Given the description of an element on the screen output the (x, y) to click on. 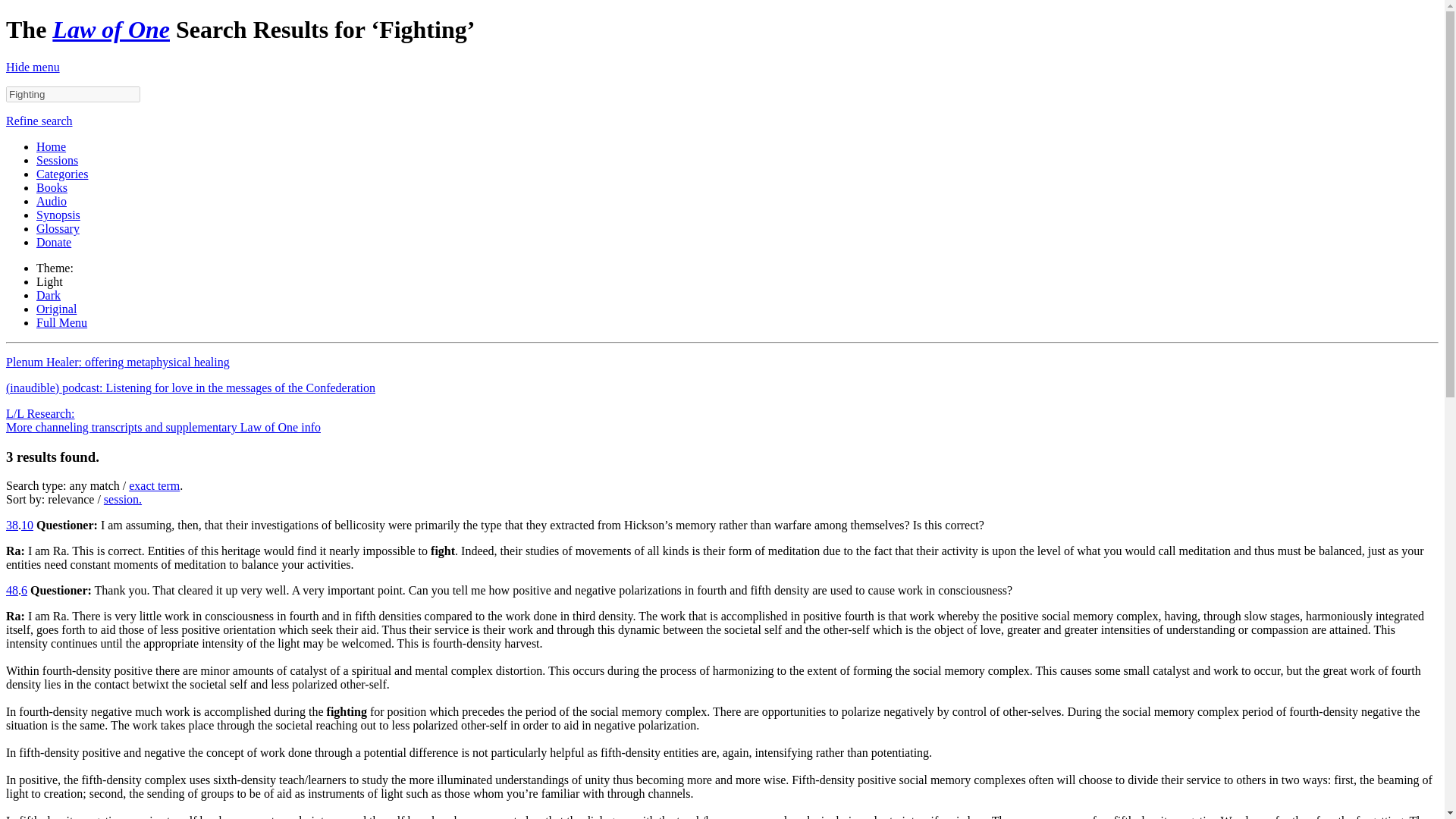
exact term (154, 485)
Audio (51, 201)
Refine search (38, 120)
Donate (53, 241)
48 (11, 590)
Dark (48, 295)
10 (27, 524)
Categories (61, 173)
Hide menu (32, 66)
38 (11, 524)
Fighting (72, 94)
Books (51, 187)
Original (56, 308)
session. (122, 499)
Plenum Healer: offering metaphysical healing (117, 361)
